Given the description of an element on the screen output the (x, y) to click on. 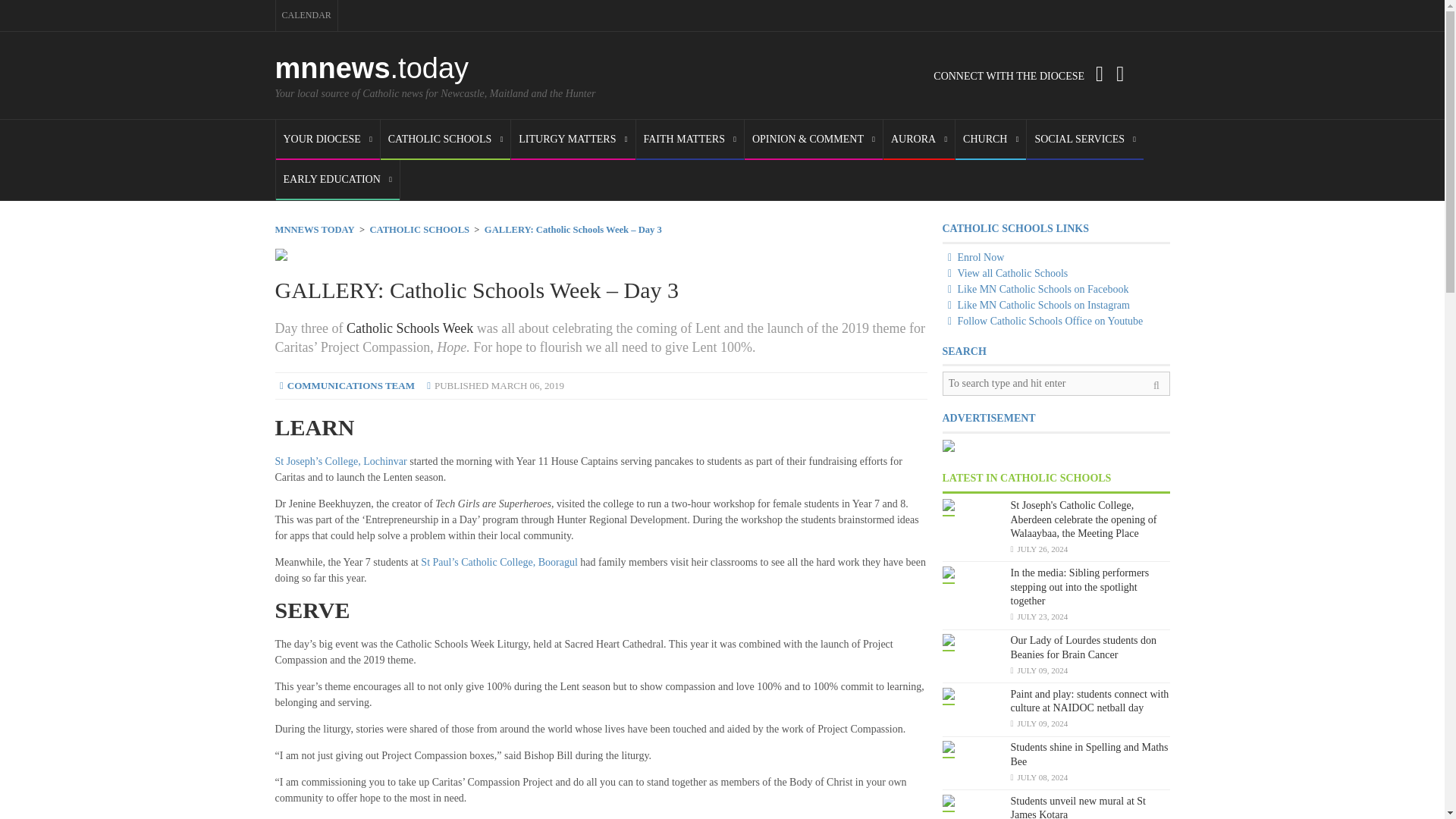
YOUR DIOCESE (328, 139)
CALENDAR (306, 15)
mnnews.today (371, 68)
Enrol Now (973, 256)
LITURGY MATTERS (572, 139)
CATHOLIC SCHOOLS (445, 139)
